Given the description of an element on the screen output the (x, y) to click on. 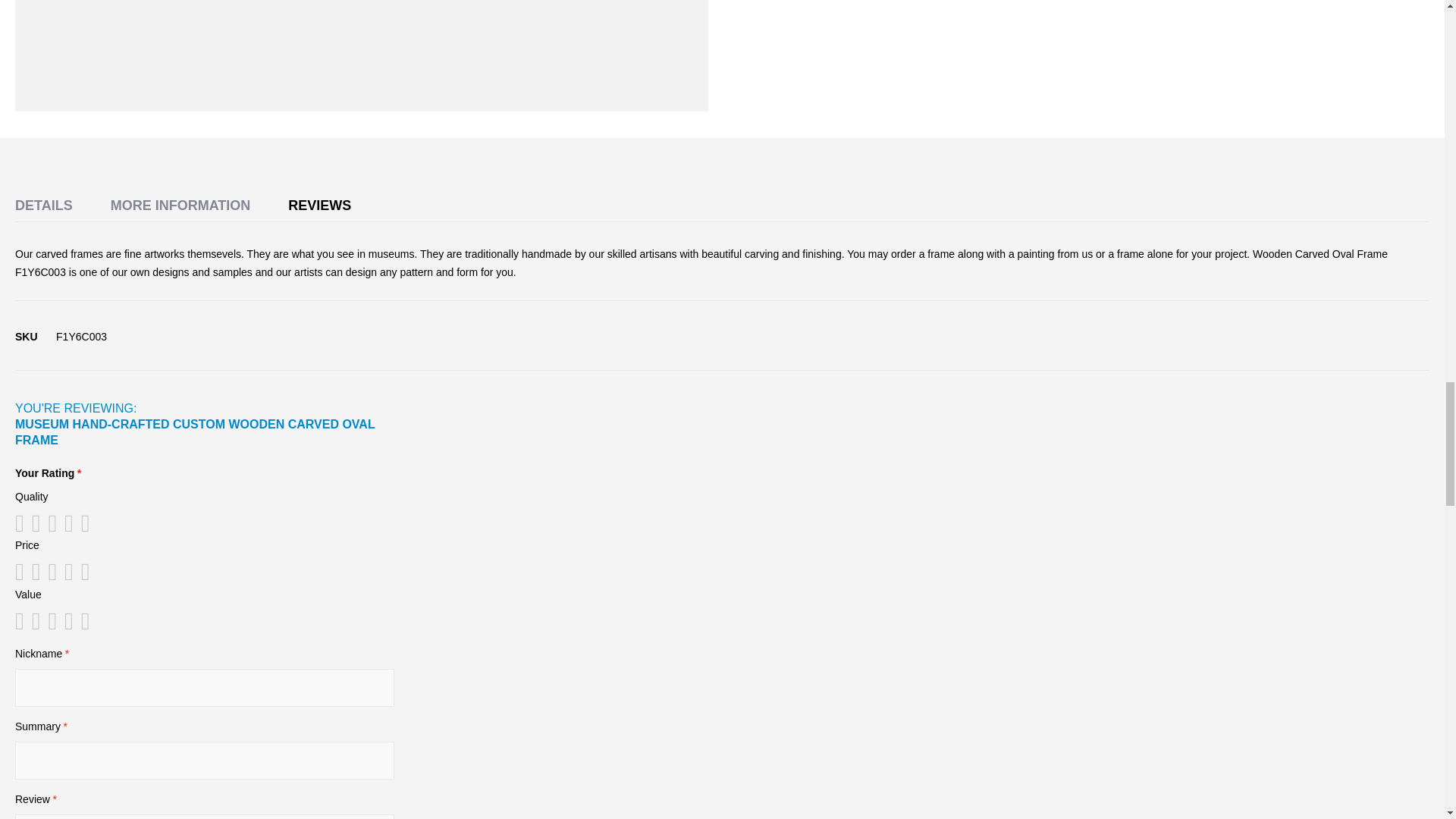
2 stars (31, 523)
